Given the description of an element on the screen output the (x, y) to click on. 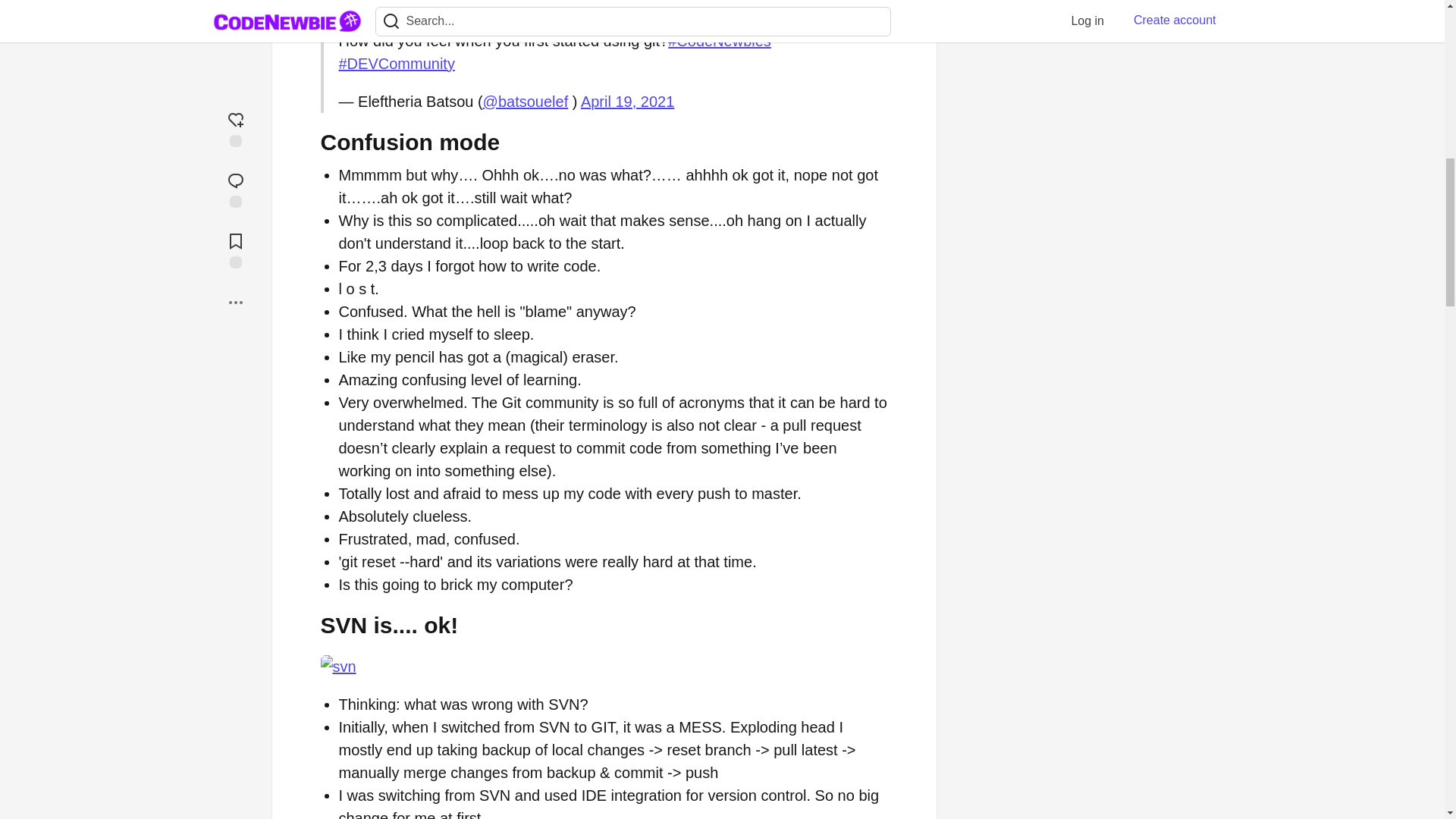
April 19, 2021 (627, 101)
